Given the description of an element on the screen output the (x, y) to click on. 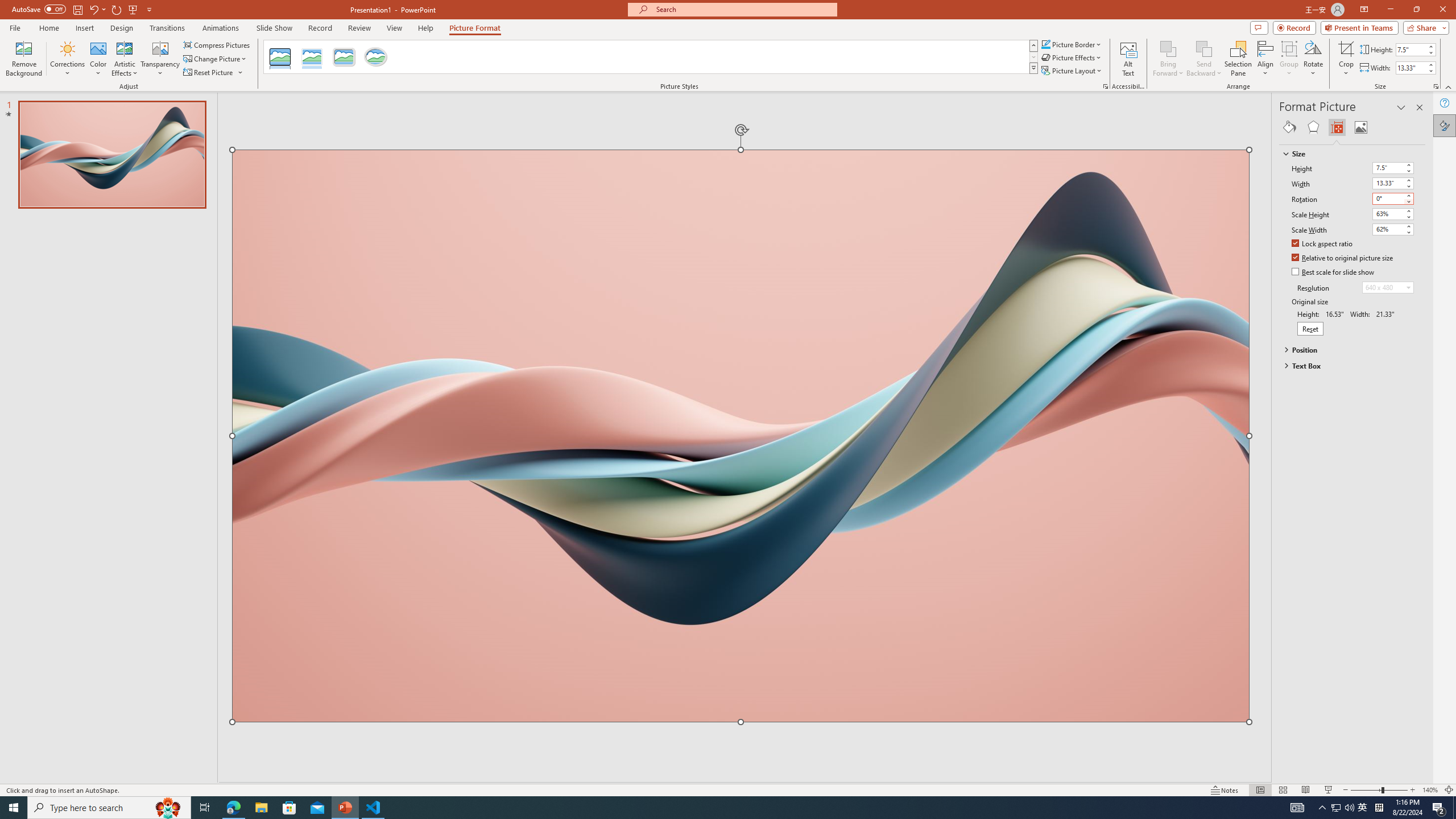
Zoom 140% (1430, 790)
Position (1347, 349)
Height (1388, 167)
Effects (1313, 126)
Crop (1345, 58)
Size (1347, 153)
